Given the description of an element on the screen output the (x, y) to click on. 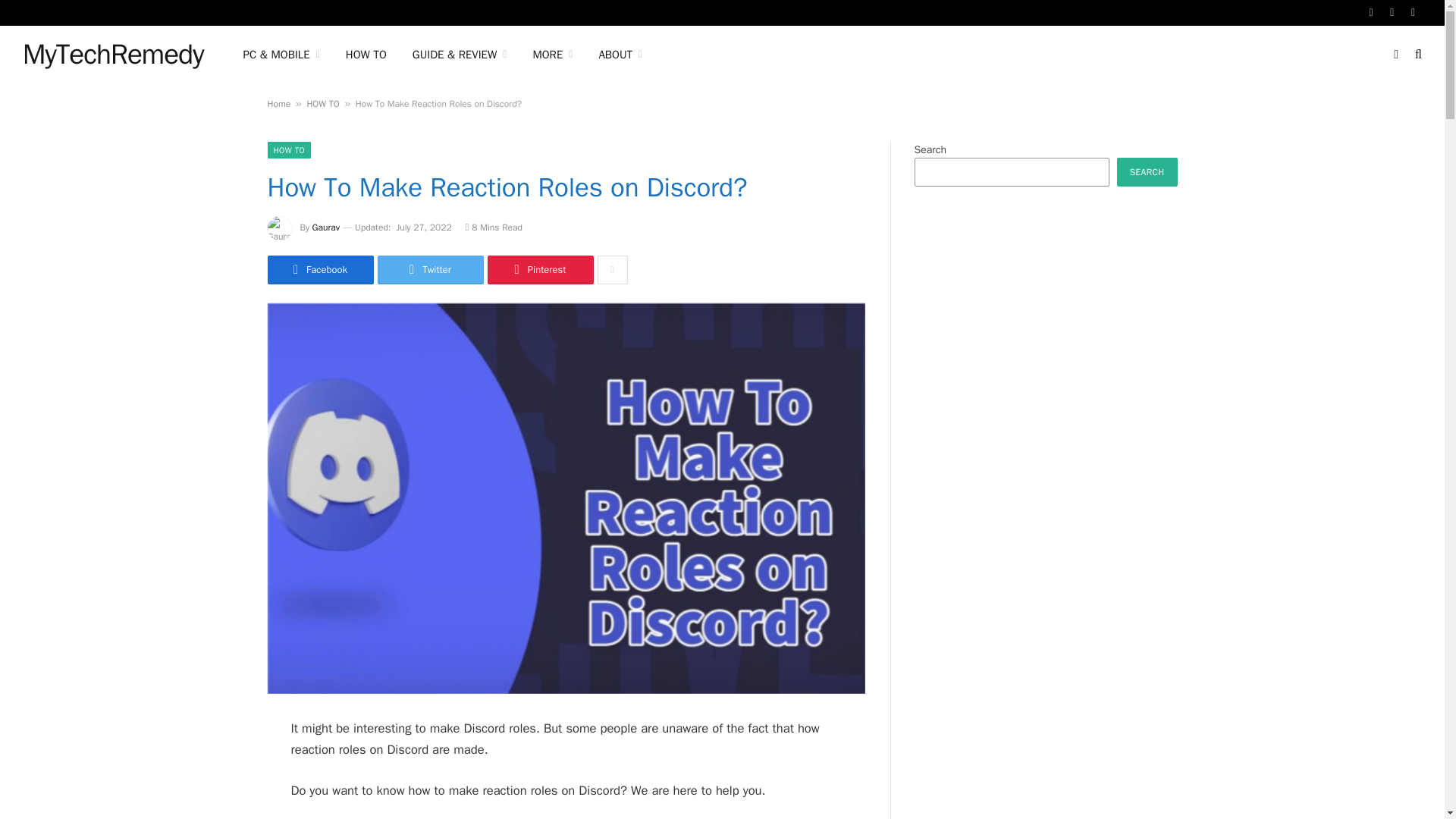
Switch to Dark Design - easier on eyes. (1396, 54)
MyTechRemedy (113, 54)
Share on Pinterest (539, 269)
Posts by Gaurav (326, 227)
ABOUT (620, 54)
MyTechRemedy (113, 54)
HOW TO (365, 54)
MORE (552, 54)
Share on Facebook (319, 269)
